Given the description of an element on the screen output the (x, y) to click on. 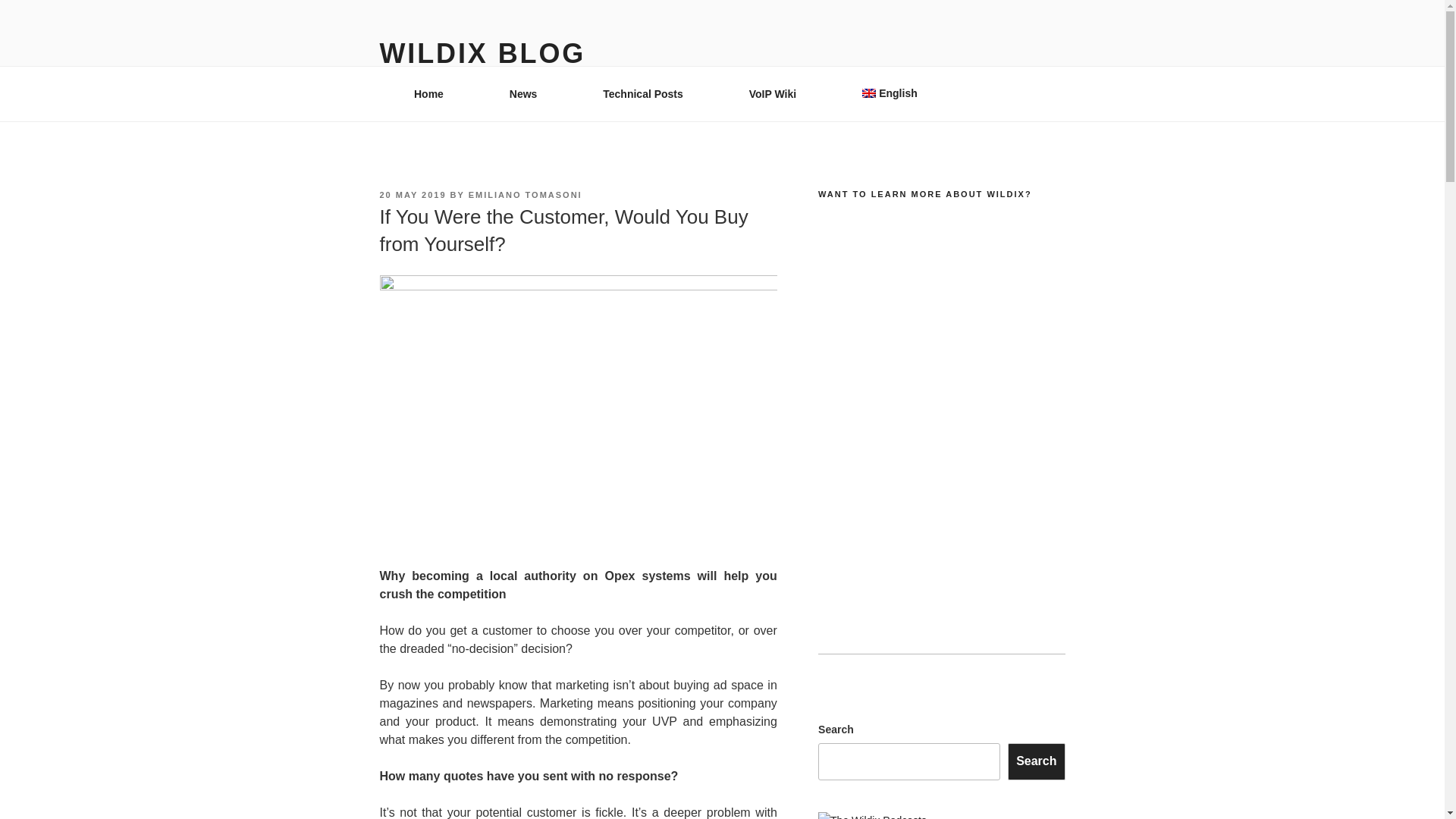
20 MAY 2019 (411, 194)
Search (1035, 760)
Technical Posts (643, 94)
English (894, 92)
VoIP Wiki (772, 94)
English (894, 92)
News (523, 94)
People Buy From The People They Trust (577, 407)
Home (428, 94)
EMILIANO TOMASONI (525, 194)
